Given the description of an element on the screen output the (x, y) to click on. 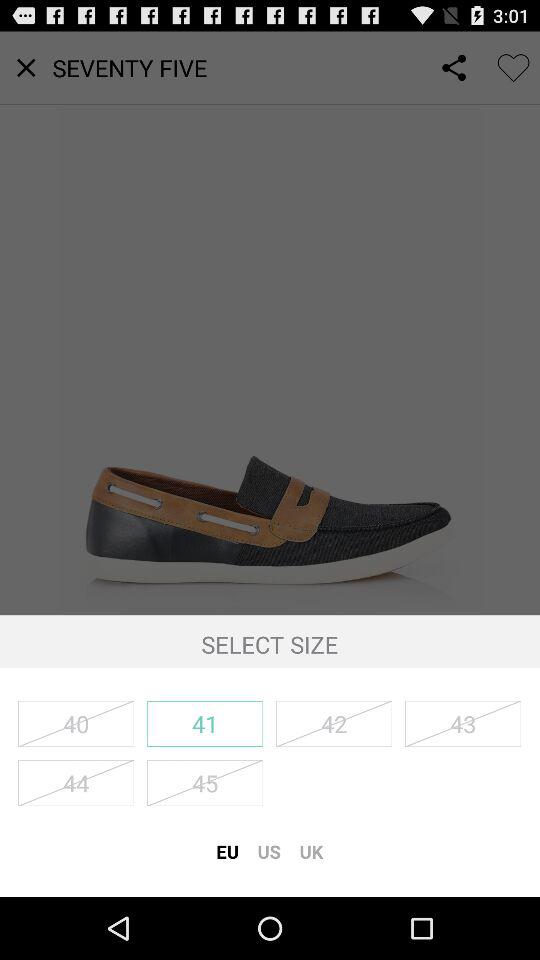
turn off icon at the center (270, 323)
